Given the description of an element on the screen output the (x, y) to click on. 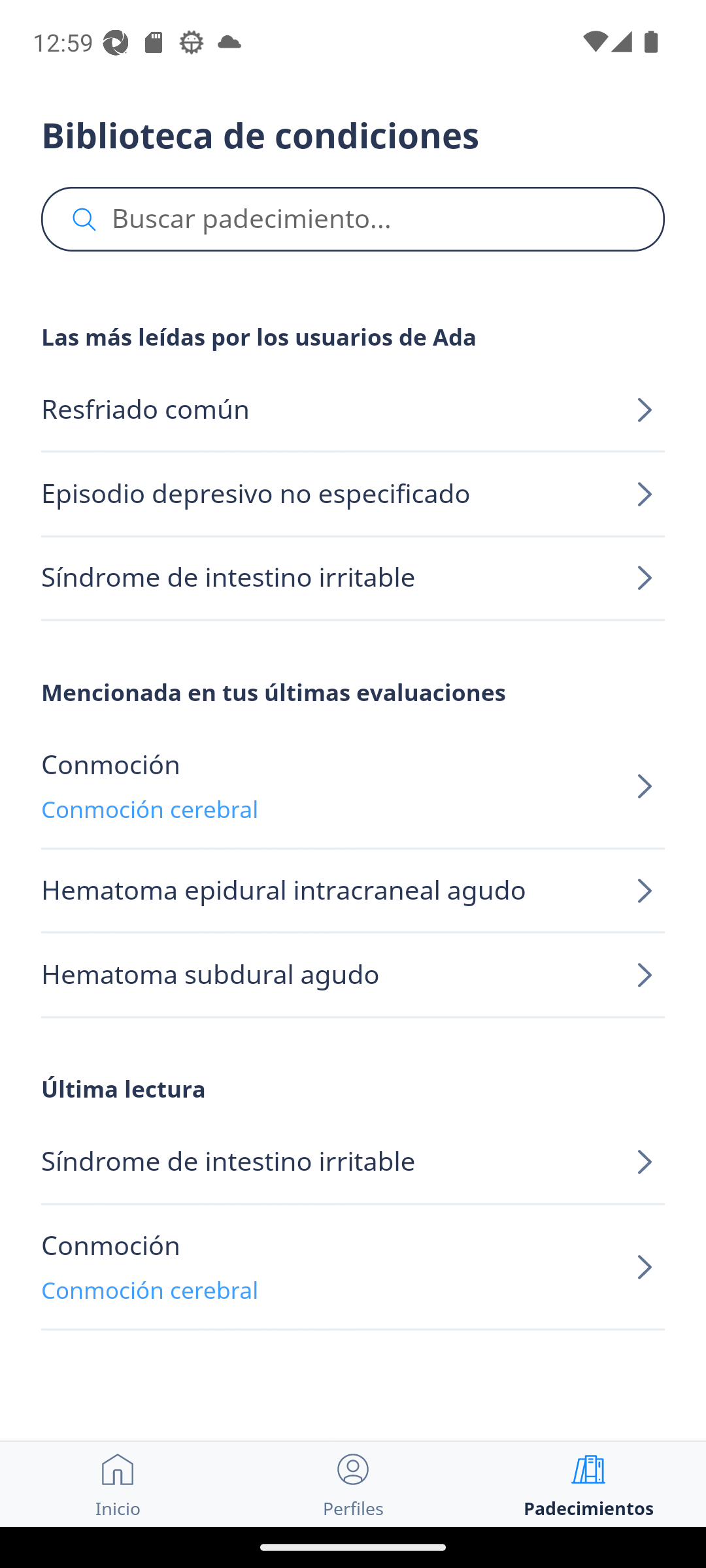
Buscar padecimiento... (352, 219)
Resfriado común (352, 409)
Episodio depresivo no especificado (352, 494)
Síndrome de intestino irritable (352, 578)
Conmoción Conmoción cerebral (352, 786)
Hematoma epidural intracraneal agudo (352, 890)
Hematoma subdural agudo (352, 974)
Síndrome de intestino irritable (352, 1162)
Conmoción Conmoción cerebral (352, 1266)
Inicio (117, 1484)
Perfiles (352, 1484)
Padecimientos (588, 1484)
